Given the description of an element on the screen output the (x, y) to click on. 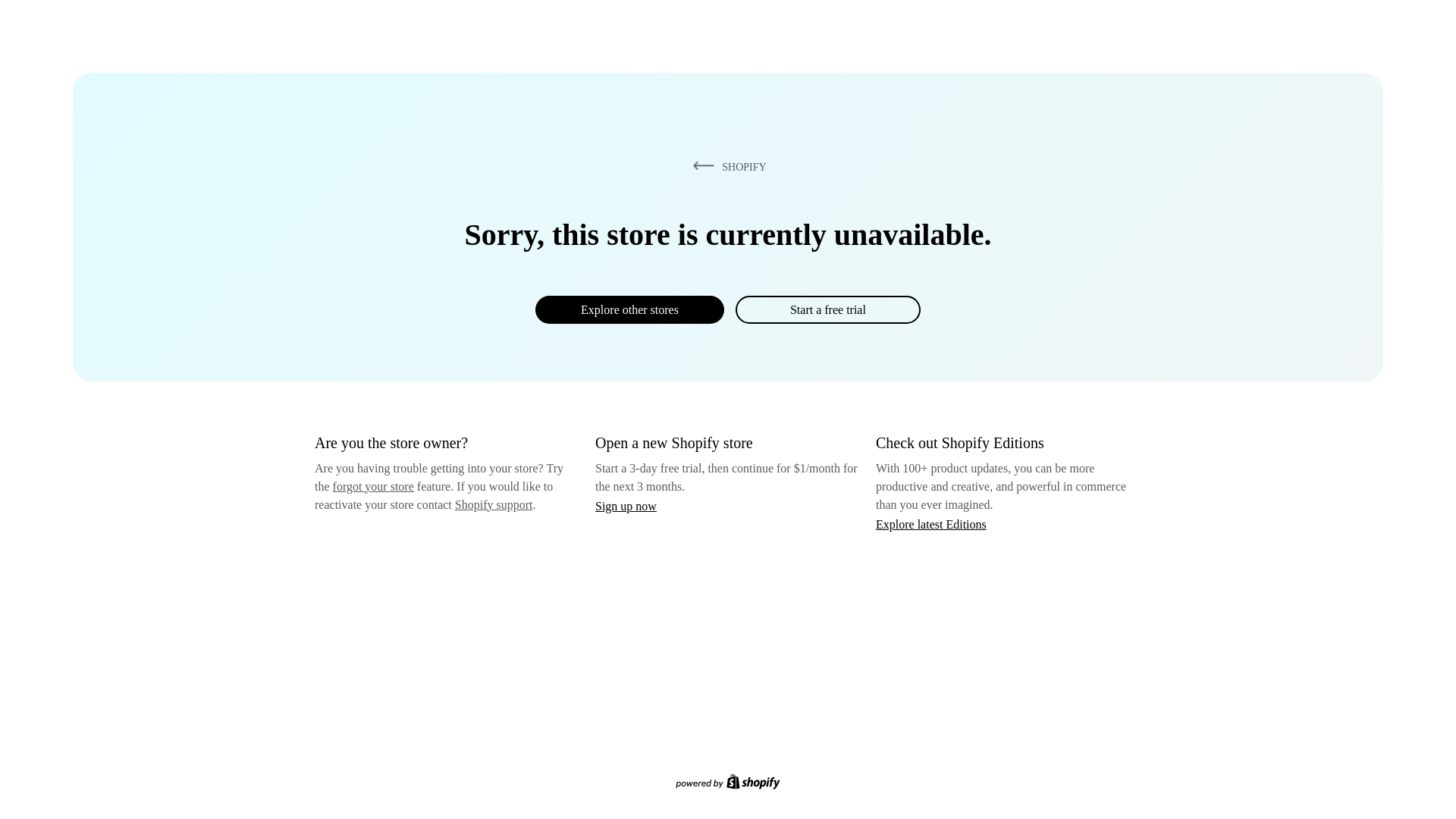
forgot your store (373, 486)
Start a free trial (827, 309)
Shopify support (493, 504)
Explore other stores (629, 309)
Explore latest Editions (931, 523)
Sign up now (625, 505)
SHOPIFY (726, 166)
